Given the description of an element on the screen output the (x, y) to click on. 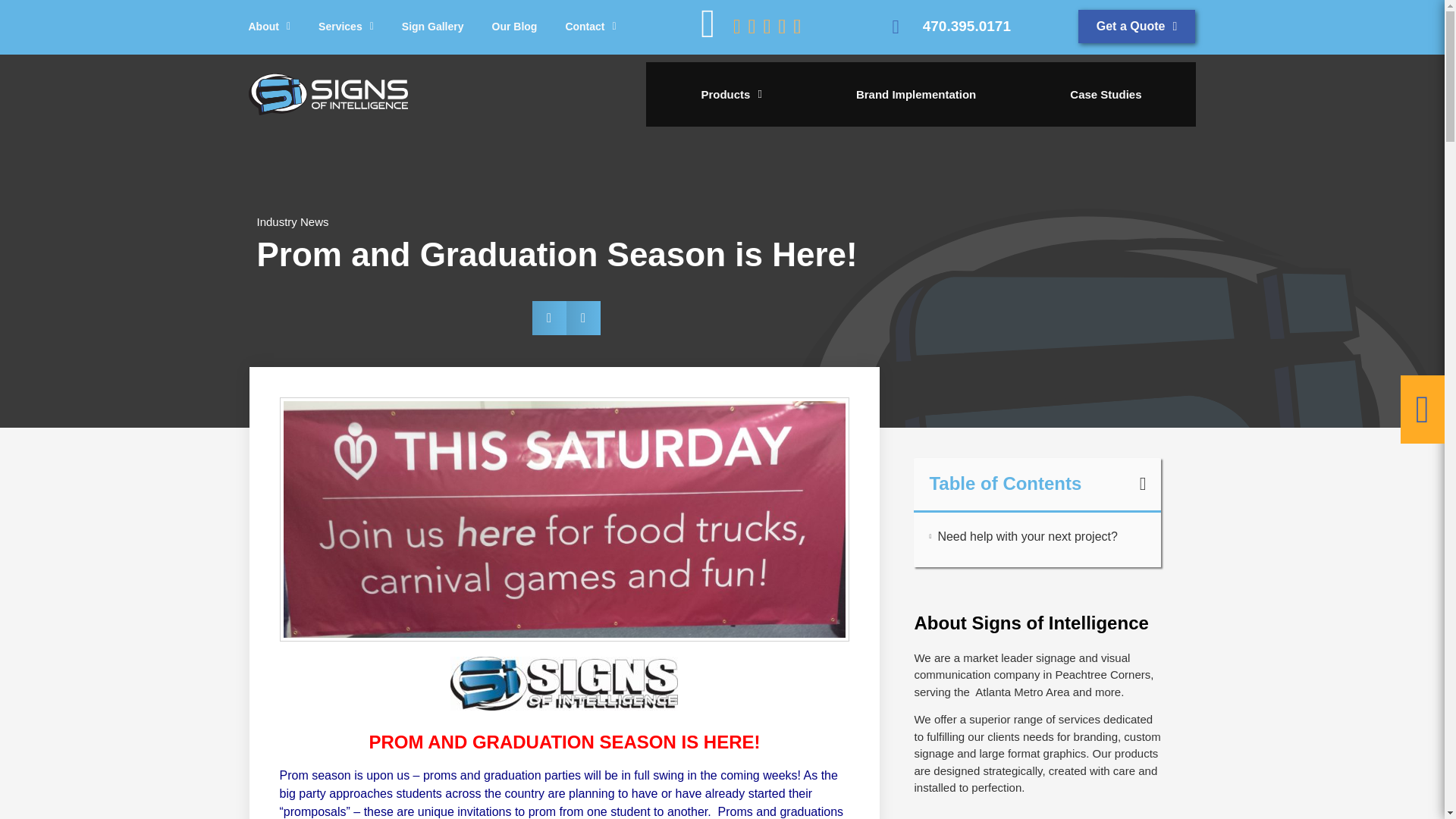
Contact (589, 26)
About (920, 94)
Sign Gallery (269, 26)
Services (432, 26)
Our Blog (346, 26)
Get a Quote (514, 26)
Products (1136, 25)
